Given the description of an element on the screen output the (x, y) to click on. 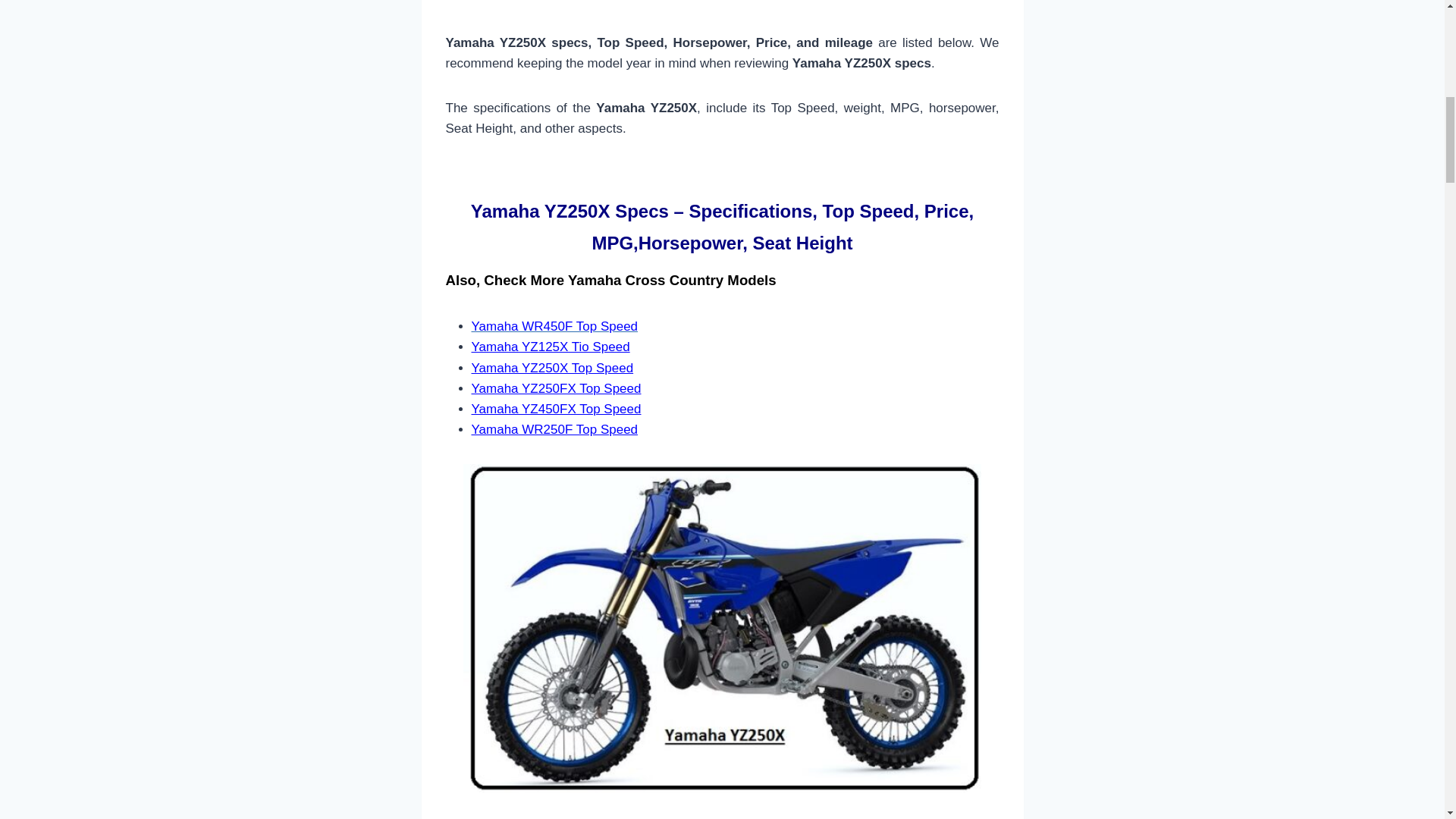
Yamaha YZ250X Top Speed (552, 368)
Yamaha YZ250FX Top Speed (556, 388)
Advertisement (721, 16)
Yamaha WR250F Top Speed (555, 429)
Yamaha WR450F Top Speed (555, 326)
Yamaha YZ125X Tio Speed (550, 346)
Yamaha YZ450FX Top Speed (556, 409)
